Given the description of an element on the screen output the (x, y) to click on. 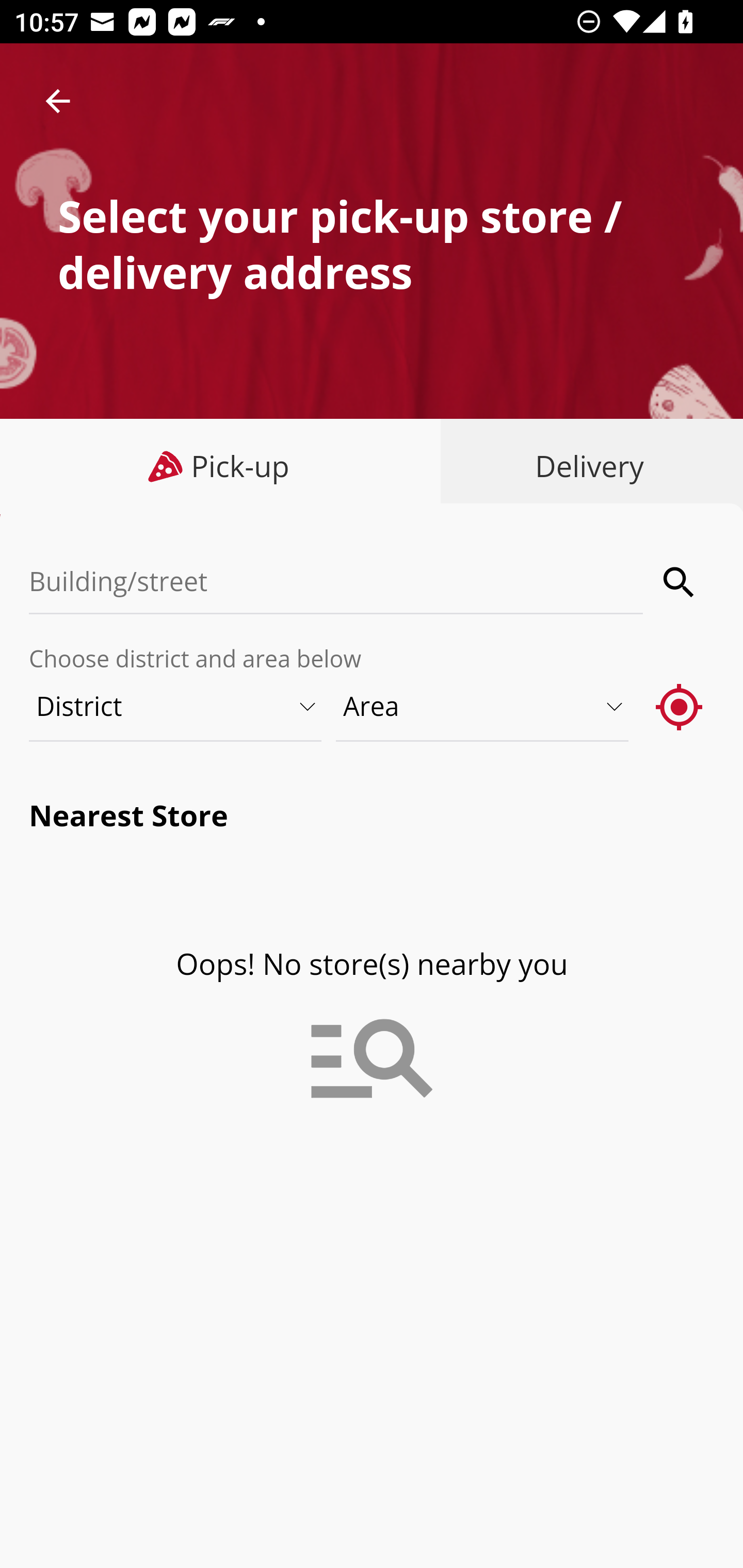
arrow_back (58, 100)
Pick-up (221, 466)
Delivery (585, 466)
search (679, 582)
gps_fixed (679, 706)
District (175, 706)
Area (482, 706)
